Given the description of an element on the screen output the (x, y) to click on. 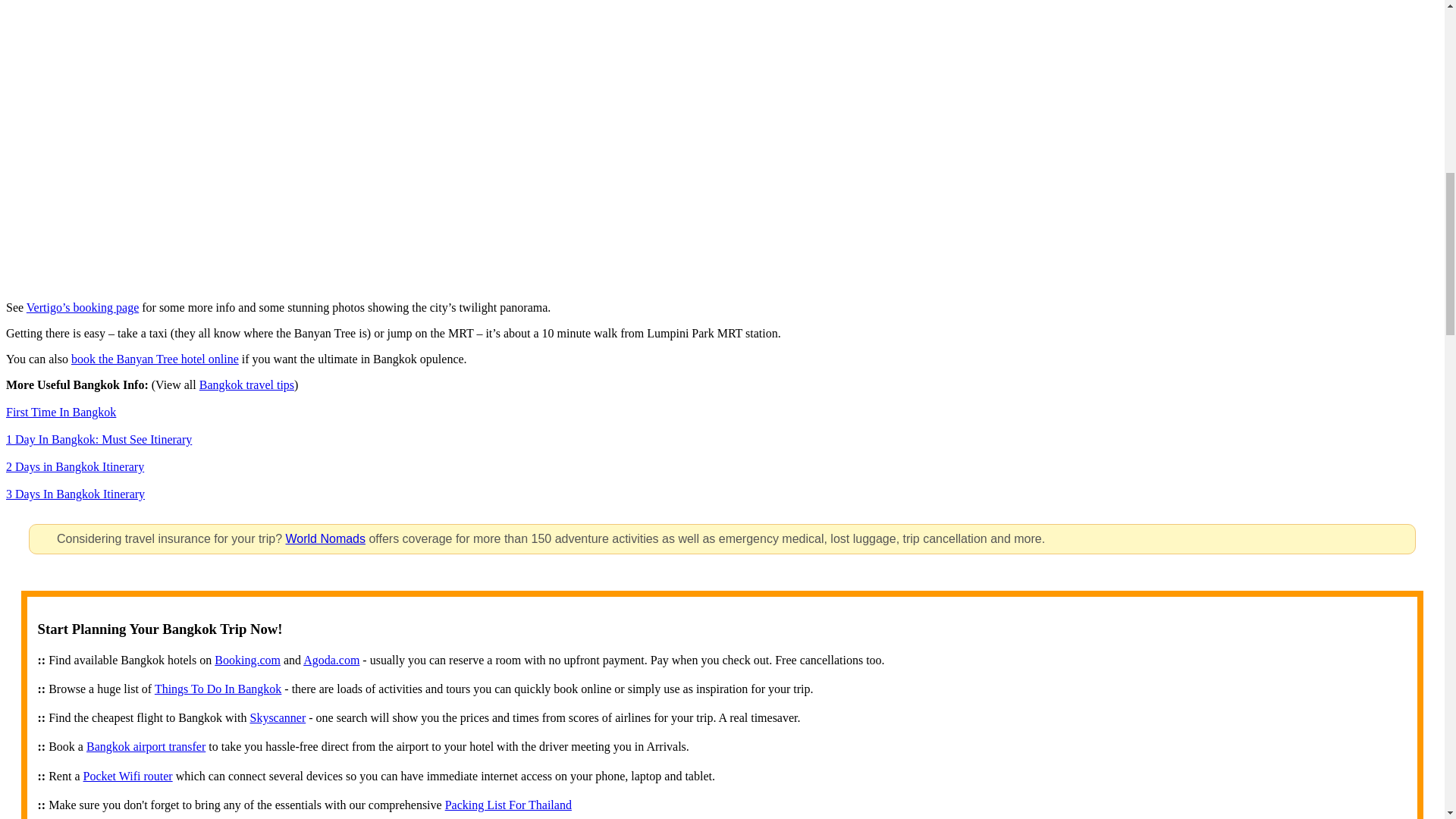
1 Day In Bangkok: Must See Itinerary (98, 439)
Skyscanner (276, 717)
Things To Do In Bangkok (217, 688)
Bangkok airport transfer (145, 746)
First Time In Bangkok (60, 411)
Packing List For Thailand (508, 804)
2 Days in Bangkok Itinerary (74, 466)
3 Days In Bangkok Itinerary (74, 493)
Agoda.com (330, 659)
Pocket Wifi router (127, 775)
Booking.com (247, 659)
Bangkok travel tips (246, 384)
World Nomads (325, 538)
book the Banyan Tree hotel online (154, 358)
